Given the description of an element on the screen output the (x, y) to click on. 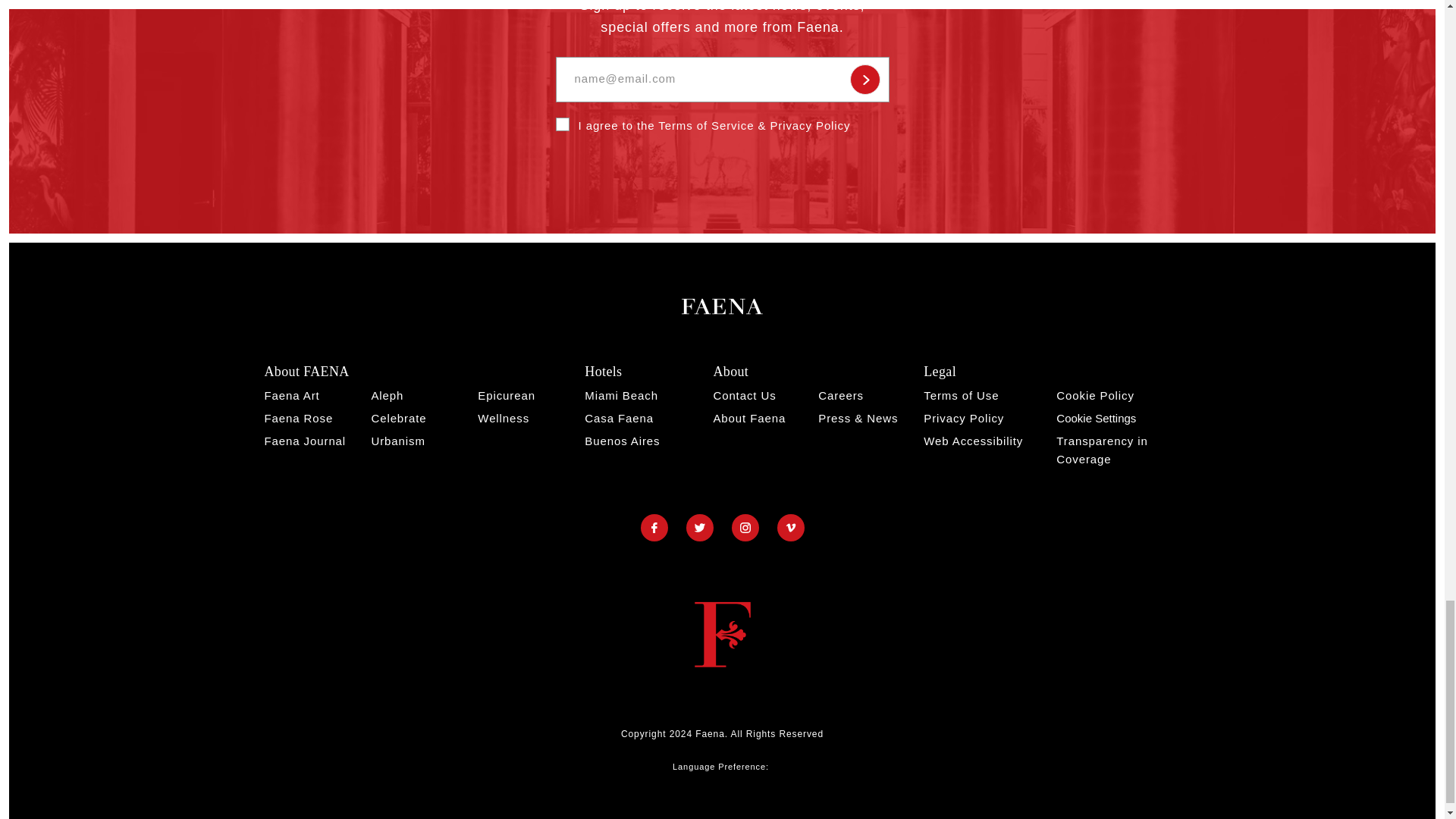
1 (561, 124)
Submit (863, 79)
